Given the description of an element on the screen output the (x, y) to click on. 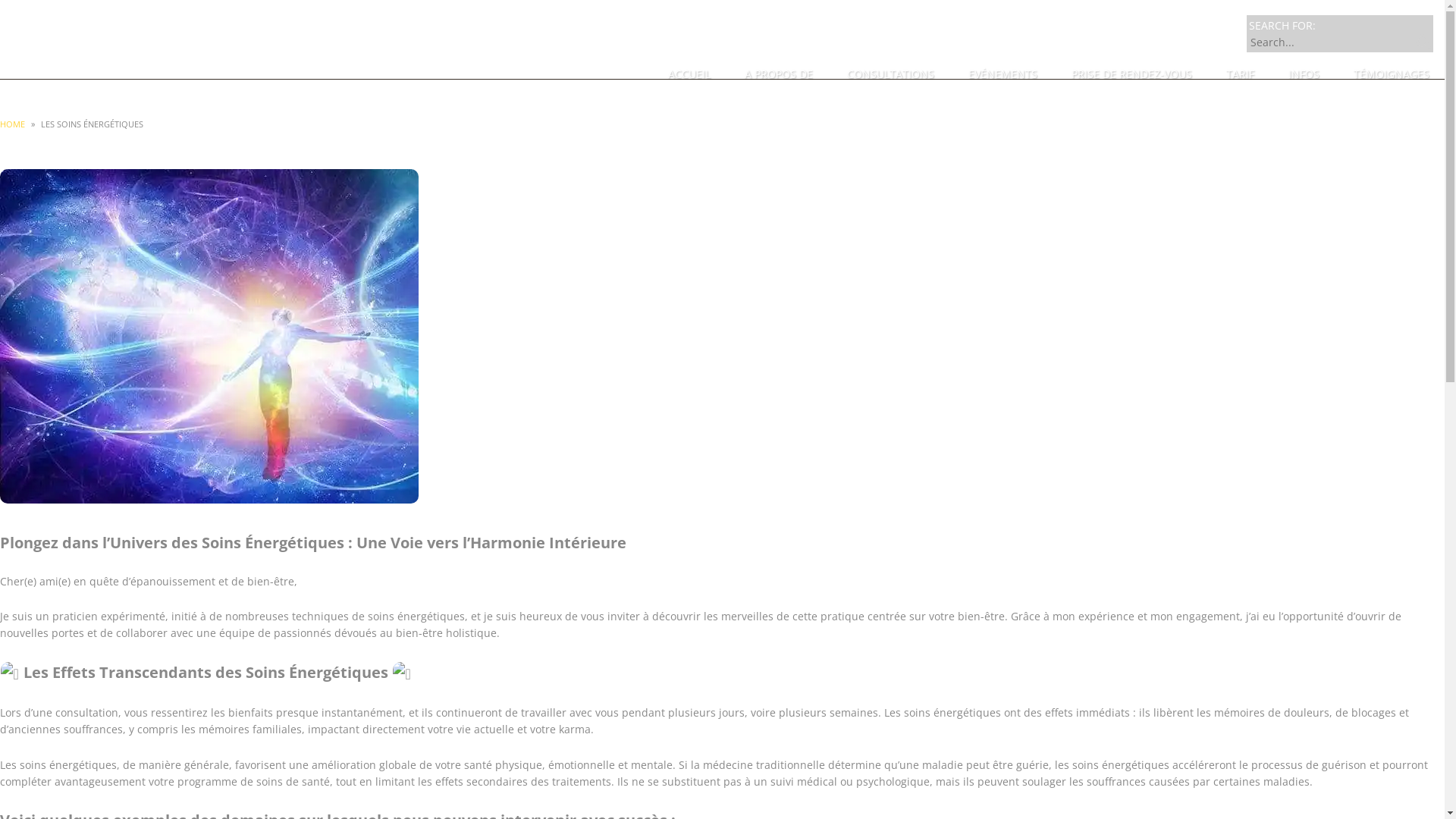
PRISE DE RENDEZ-VOUS Element type: text (1131, 74)
ACCUEIL Element type: text (688, 74)
A PROPOS DE Element type: text (778, 74)
CONSULTATIONS Element type: text (890, 74)
HOME Element type: text (12, 123)
TARIF Element type: text (1240, 74)
INFOS Element type: text (1303, 74)
